Given the description of an element on the screen output the (x, y) to click on. 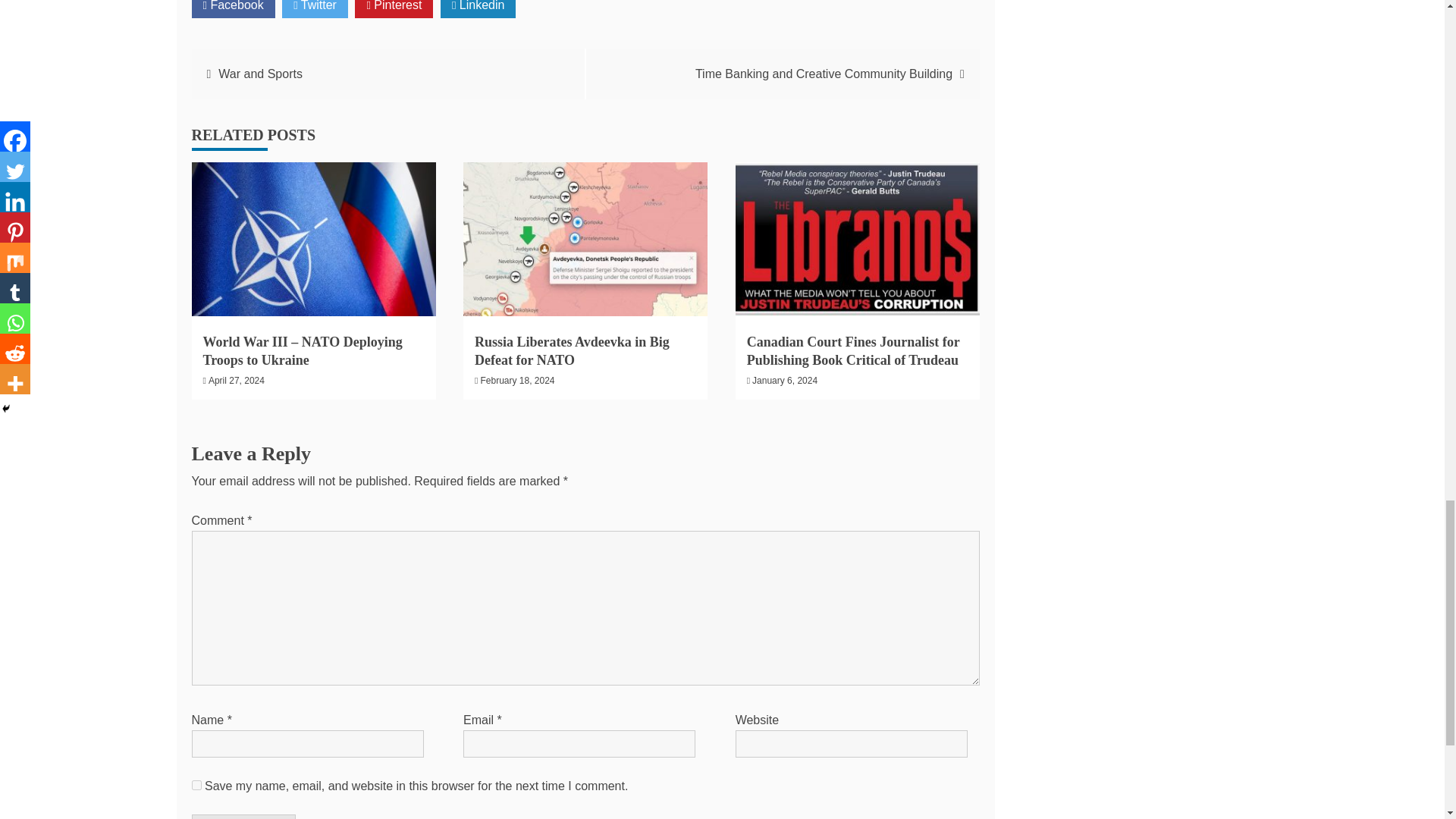
Post Comment (242, 816)
yes (195, 785)
